Given the description of an element on the screen output the (x, y) to click on. 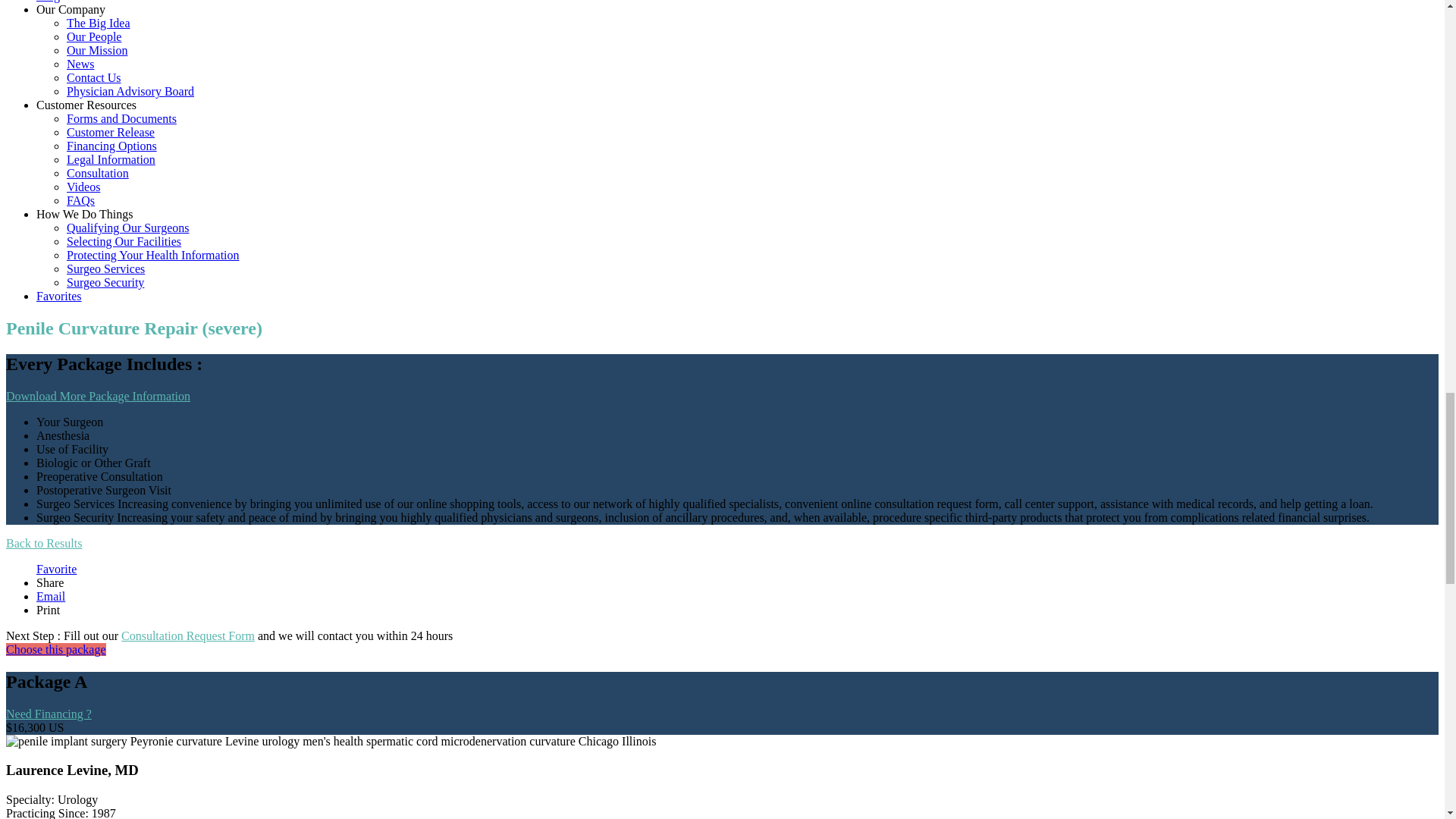
Print (47, 609)
Email (50, 595)
